Given the description of an element on the screen output the (x, y) to click on. 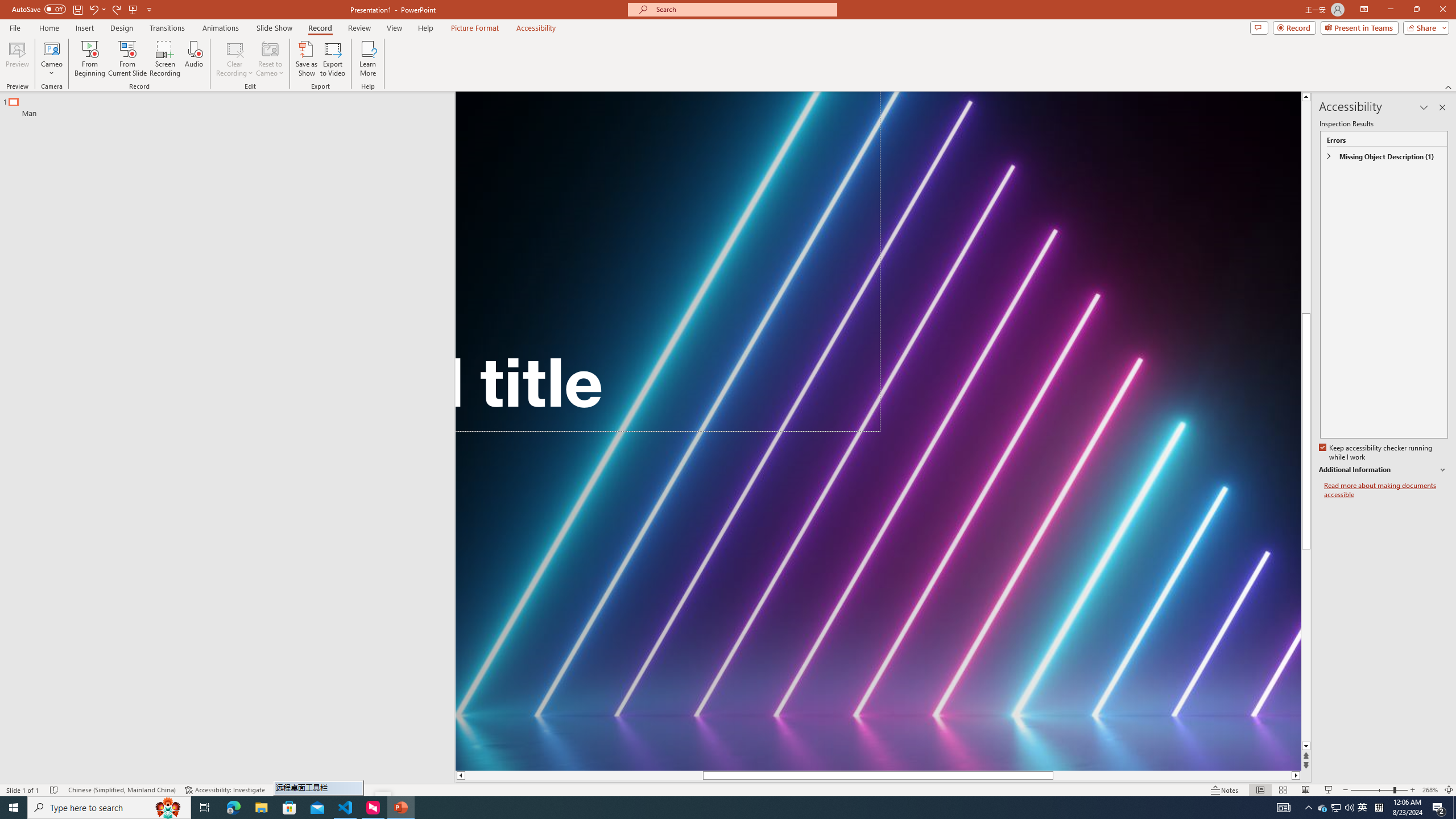
Audio (193, 58)
Zoom (1379, 790)
Class: MsoCommandBar (728, 789)
AutoSave (38, 9)
Close pane (1441, 107)
Customize Quick Access Toolbar (149, 9)
Reading View (1305, 790)
Home (48, 28)
From Beginning... (89, 58)
Learn More (368, 58)
Read more about making documents accessible (1385, 489)
Screen Recording (165, 58)
Collapse the Ribbon (1448, 86)
